Given the description of an element on the screen output the (x, y) to click on. 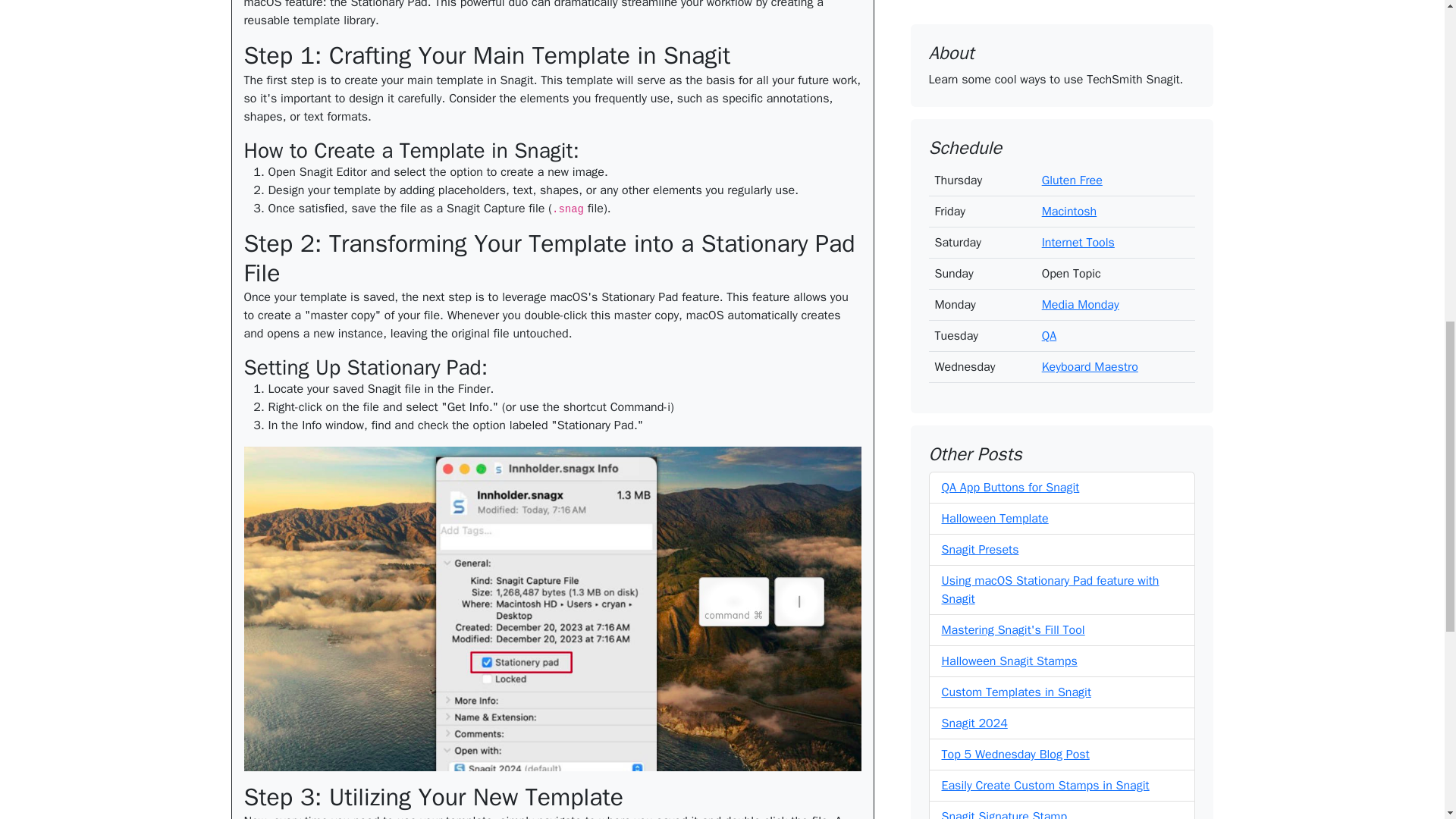
Custom Templates in Snagit (1016, 140)
Mastering Snagit's Fill Tool (1013, 77)
Top 5 Wednesday Blog Post (1015, 201)
Snagit Presets (980, 2)
Halloween Snagit Stamps (1009, 109)
Snagit - More than a Capture Tool (1031, 295)
Easily Create Custom Stamps in Snagit (1046, 233)
Snagit 2024 (974, 171)
Backing Up Your Snagit Folders (1025, 326)
Using macOS Stationary Pad feature with Snagit (1050, 37)
Snagit Signature Stamp (1004, 264)
